Given the description of an element on the screen output the (x, y) to click on. 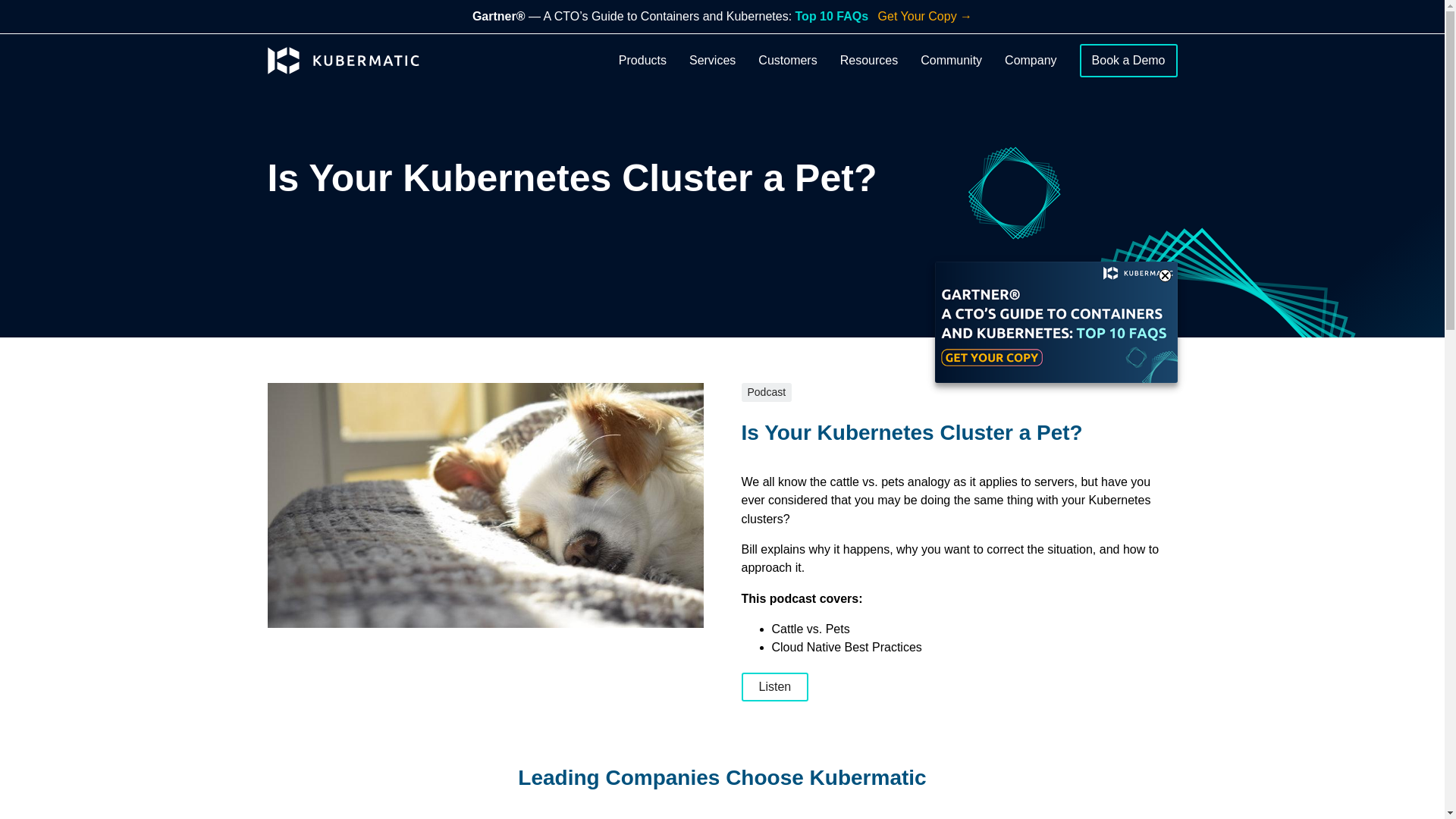
Products (642, 60)
